Given the description of an element on the screen output the (x, y) to click on. 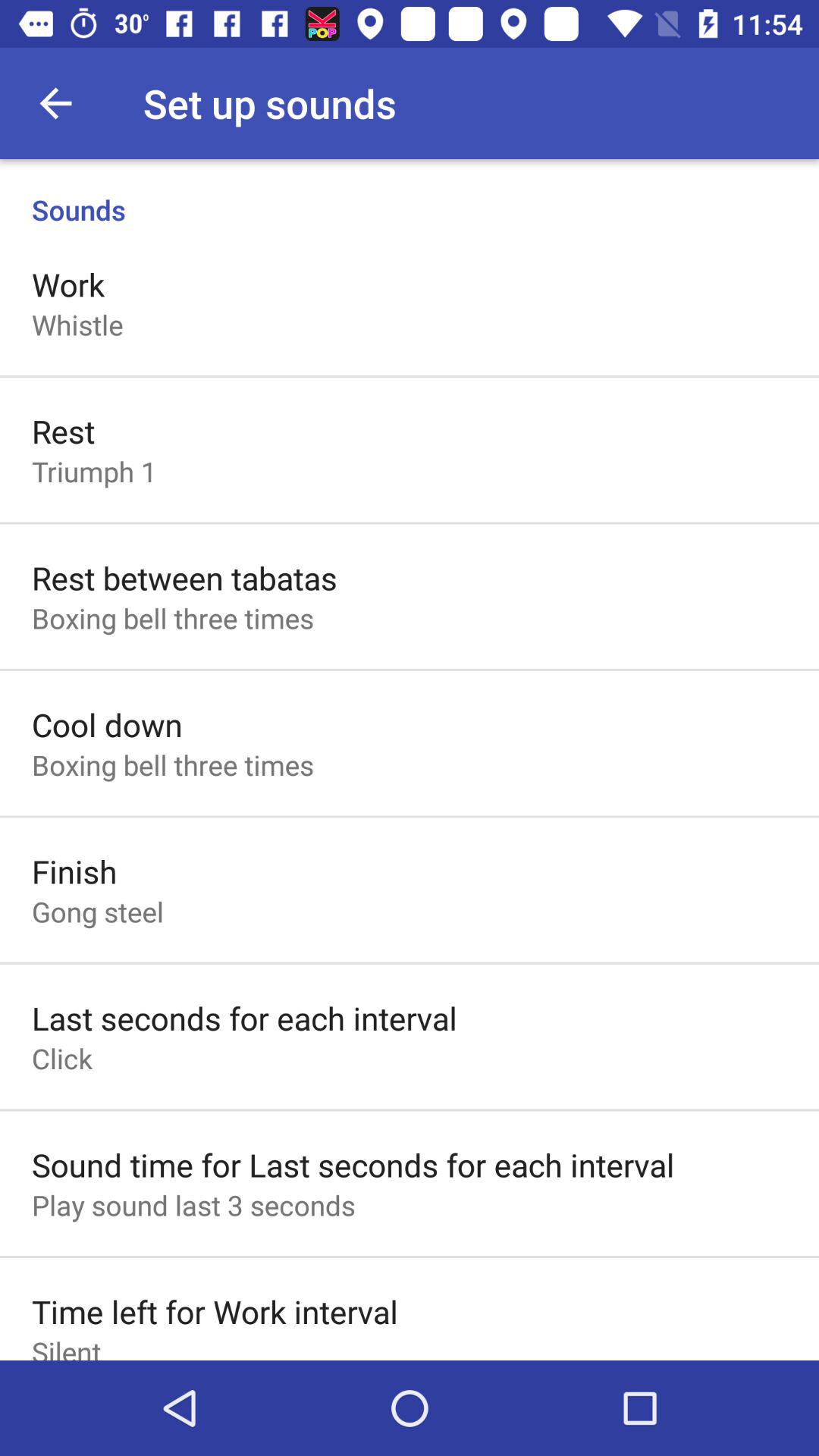
turn off item below the boxing bell three icon (74, 870)
